Given the description of an element on the screen output the (x, y) to click on. 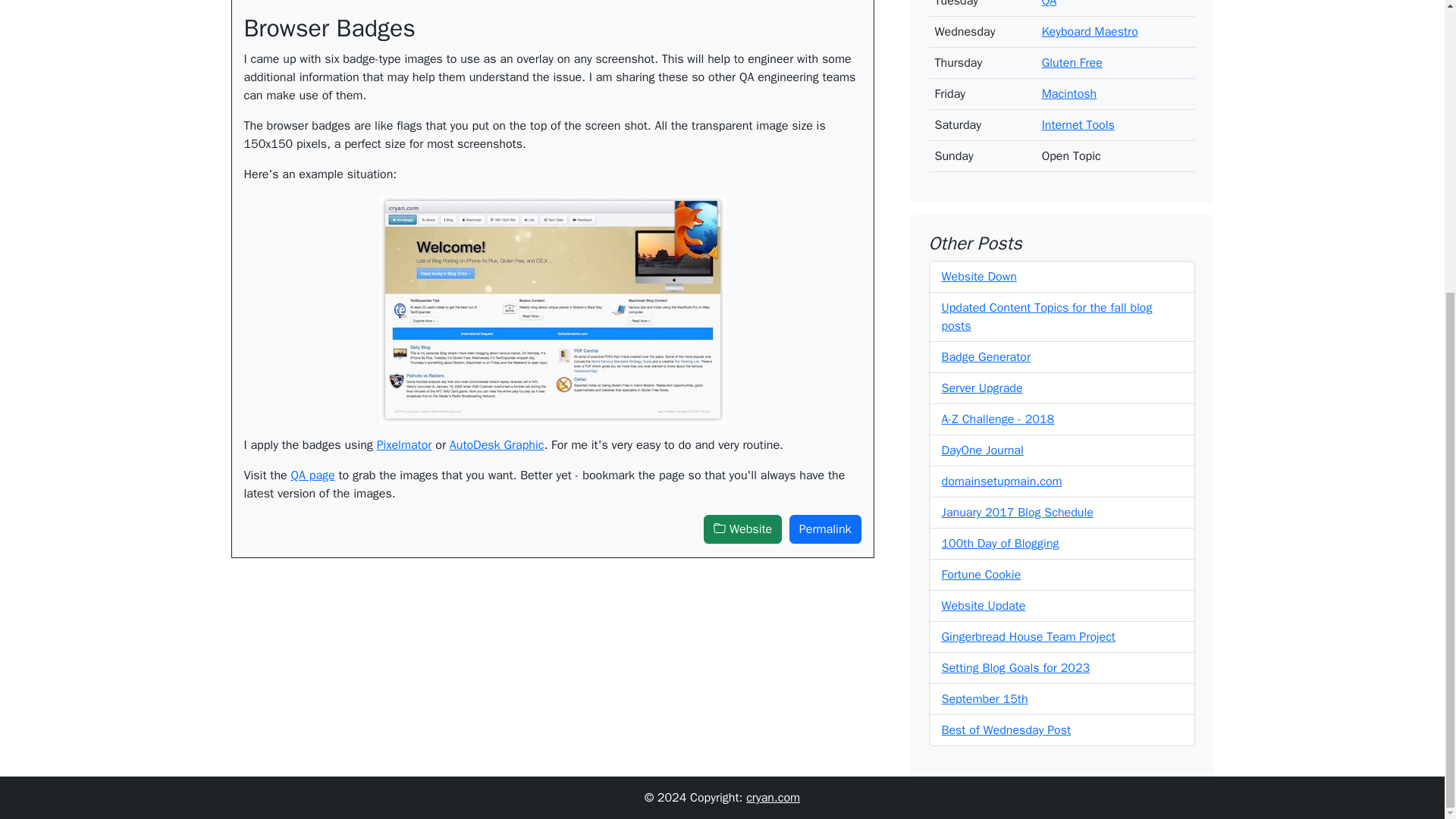
September 15th (984, 686)
AutoDesk Graphic (496, 444)
Macintosh (1069, 81)
A-Z Challenge - 2018 (998, 406)
Updated Content Topics for the fall blog posts (1047, 304)
Fortune Cookie (982, 562)
January 2017 Blog Schedule (1017, 500)
QA page (311, 475)
Badge Generator (986, 344)
Keyboard Maestro (1090, 19)
